Given the description of an element on the screen output the (x, y) to click on. 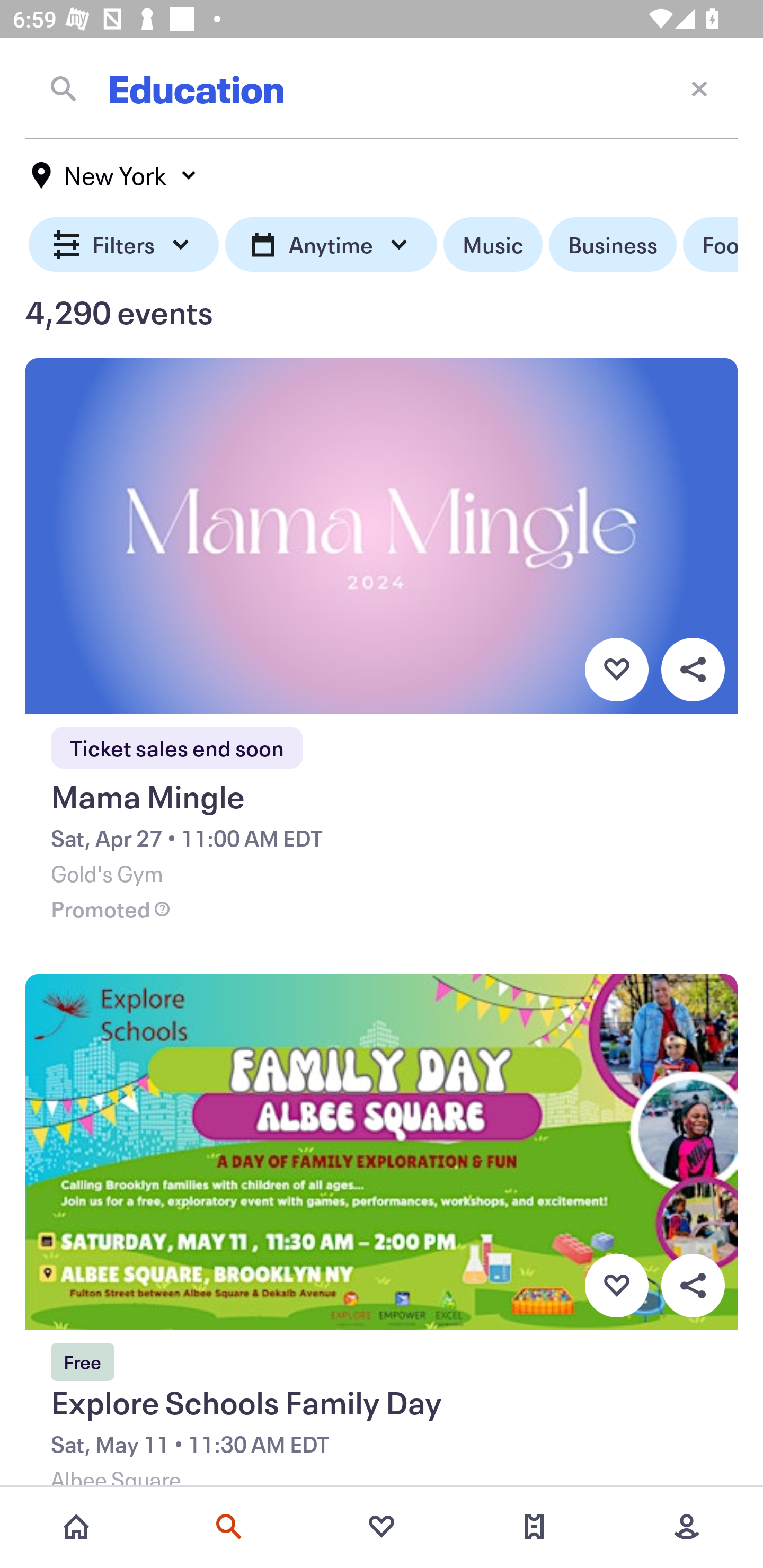
Education Close current screen (381, 88)
Close current screen (699, 88)
New York (114, 175)
Filters (123, 244)
Anytime (331, 244)
Music (492, 244)
Business (612, 244)
Favorite button (616, 669)
Overflow menu button (692, 669)
Favorite button (616, 1285)
Overflow menu button (692, 1285)
Home (76, 1526)
Search events (228, 1526)
Favorites (381, 1526)
Tickets (533, 1526)
More (686, 1526)
